Given the description of an element on the screen output the (x, y) to click on. 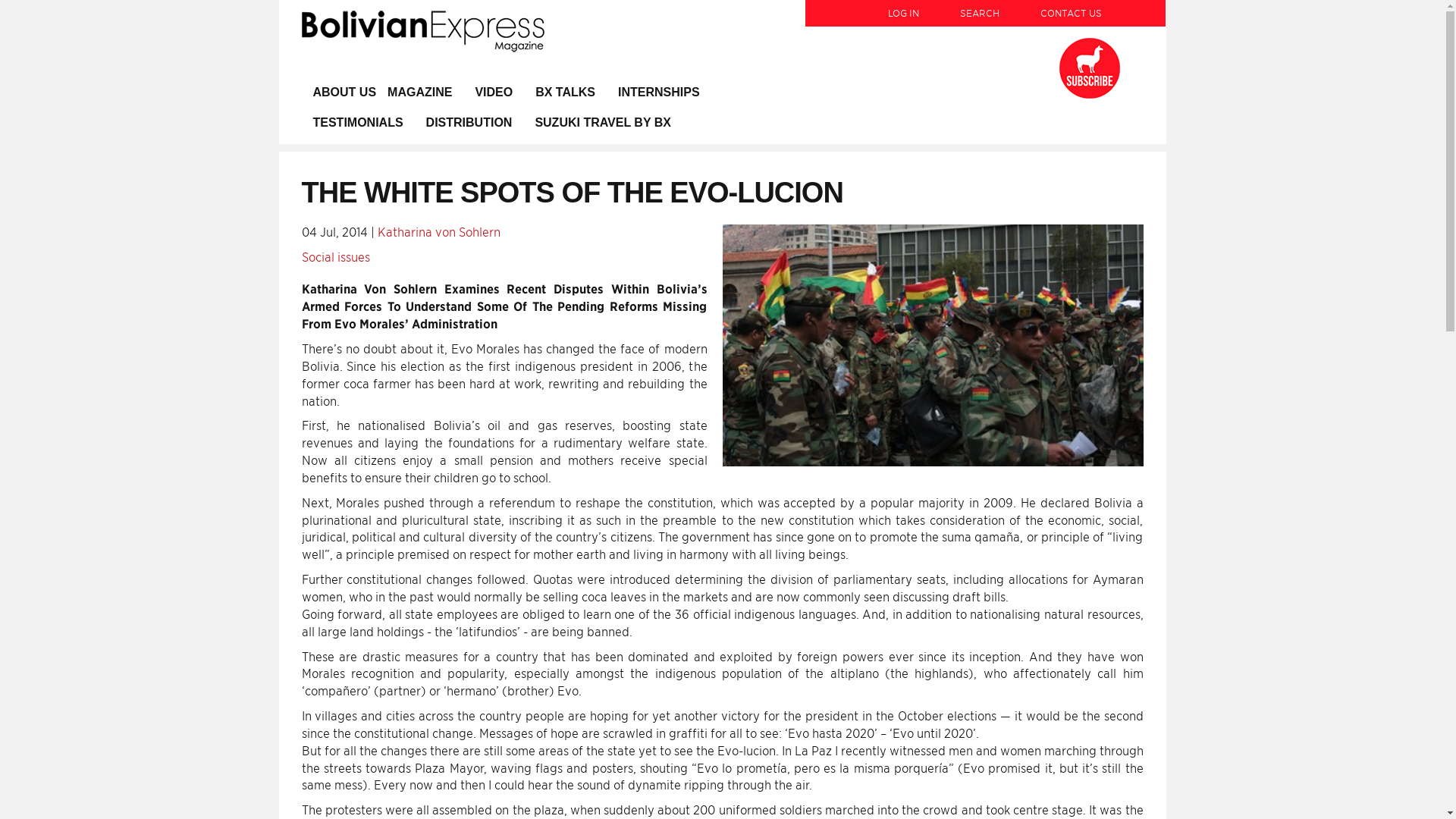
VIDEO (493, 91)
SEARCH (978, 6)
ABOUT US (344, 91)
MAGAZINE (425, 91)
SUZUKI TRAVEL BY BX (602, 122)
LOG IN (903, 6)
TESTIMONIALS (357, 122)
Katharina von Sohlern (438, 232)
Social issues (335, 257)
INTERNSHIPS (659, 91)
BX TALKS (565, 91)
DISTRIBUTION (469, 122)
CONTACT US (1062, 6)
